Given the description of an element on the screen output the (x, y) to click on. 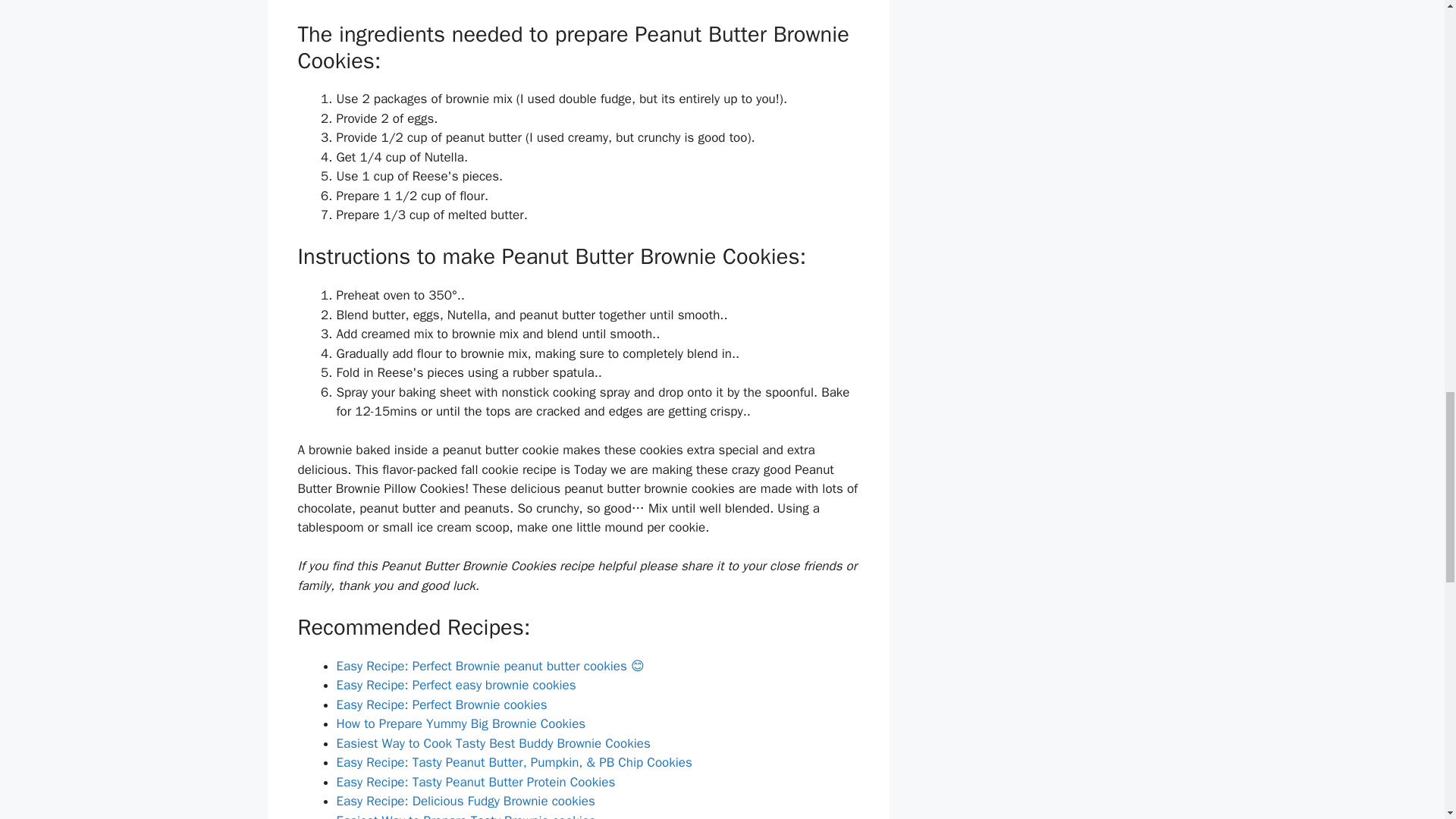
Easy Recipe: Perfect easy brownie cookies (456, 684)
Easy Recipe: Perfect Brownie cookies (441, 704)
Easiest Way to Cook Tasty Best Buddy Brownie Cookies (493, 743)
How to Prepare Yummy Big Brownie Cookies (461, 723)
Easy Recipe: Tasty Peanut Butter Protein Cookies (475, 781)
Easiest Way to Prepare Tasty Brownie cookies (465, 816)
Easy Recipe: Delicious Fudgy Brownie cookies (465, 801)
